Given the description of an element on the screen output the (x, y) to click on. 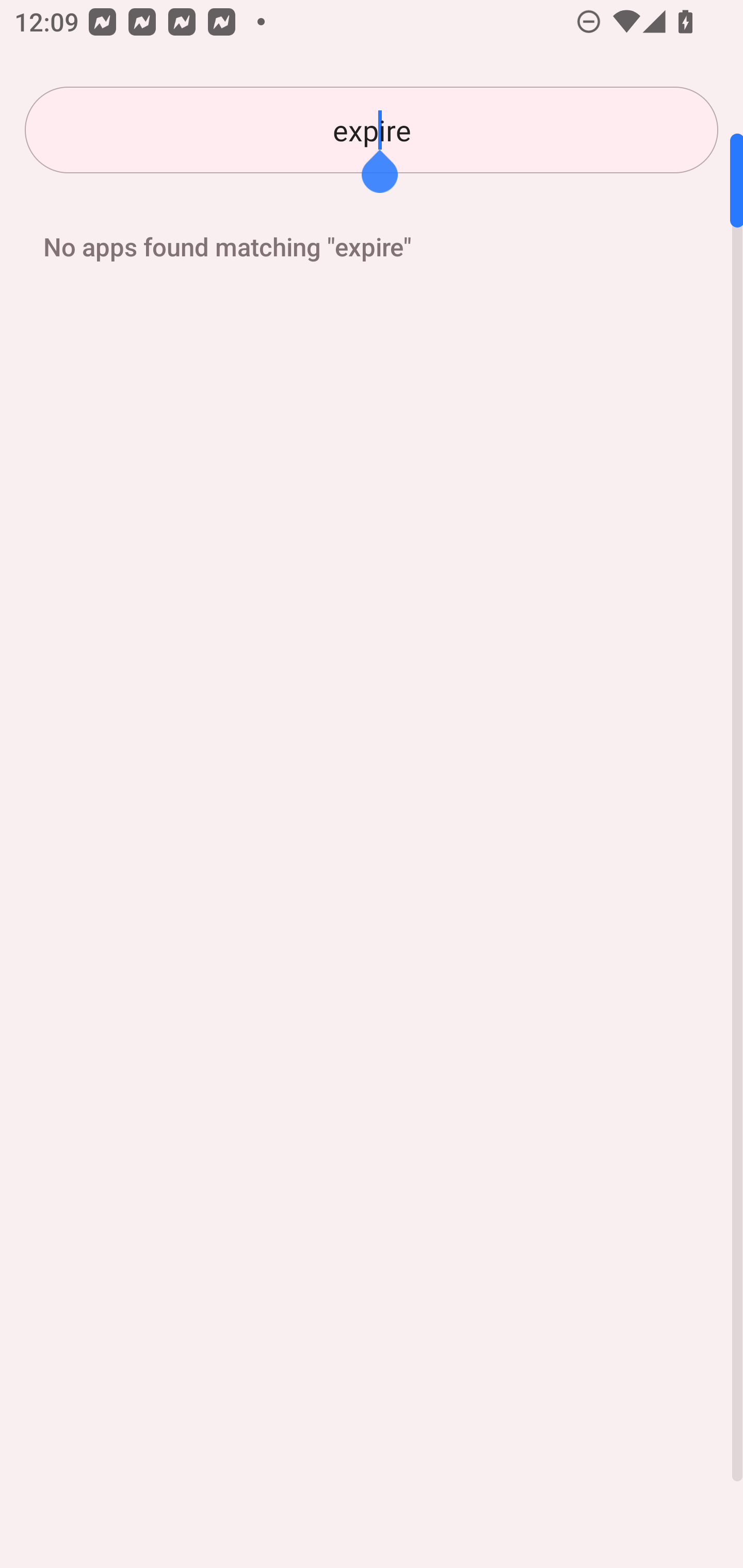
expire (371, 130)
